Given the description of an element on the screen output the (x, y) to click on. 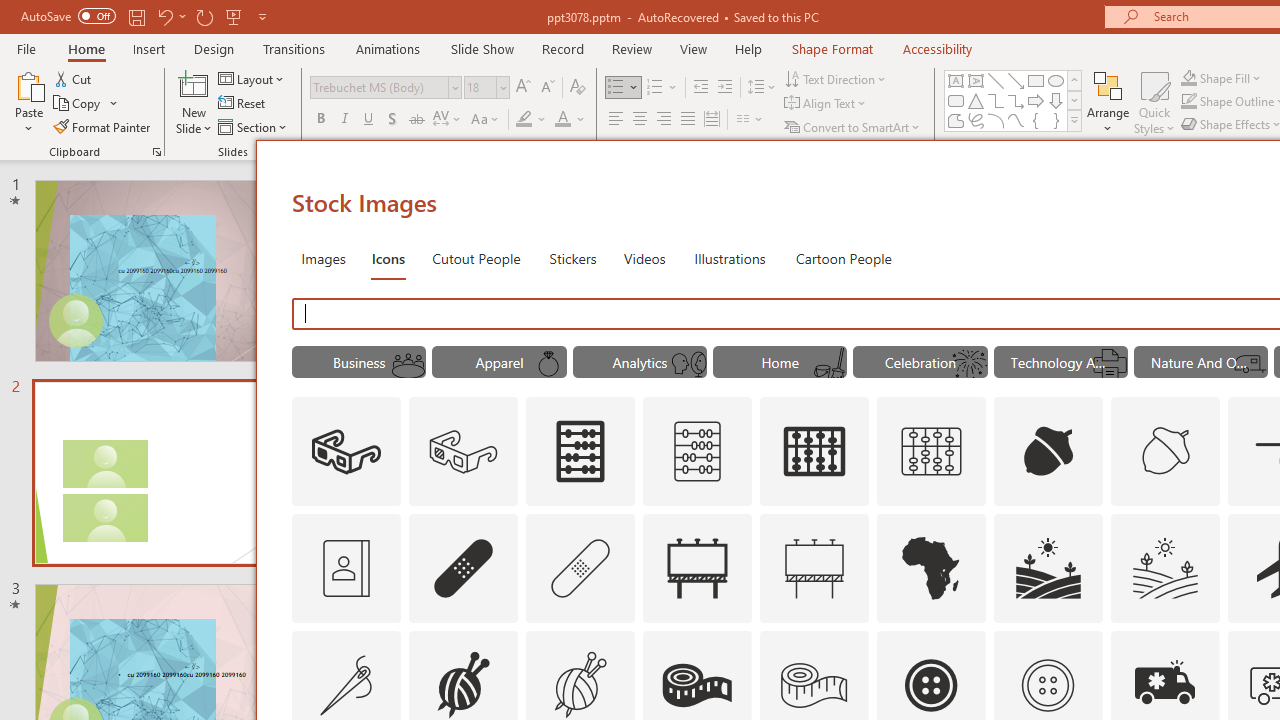
AutomationID: Icons_Agriculture (1048, 568)
Center (639, 119)
"Business" Icons. (358, 362)
Stickers (573, 258)
Convert to SmartArt (853, 126)
Line Spacing (762, 87)
Arrange (1108, 102)
Strikethrough (416, 119)
Align Text (826, 103)
